Given the description of an element on the screen output the (x, y) to click on. 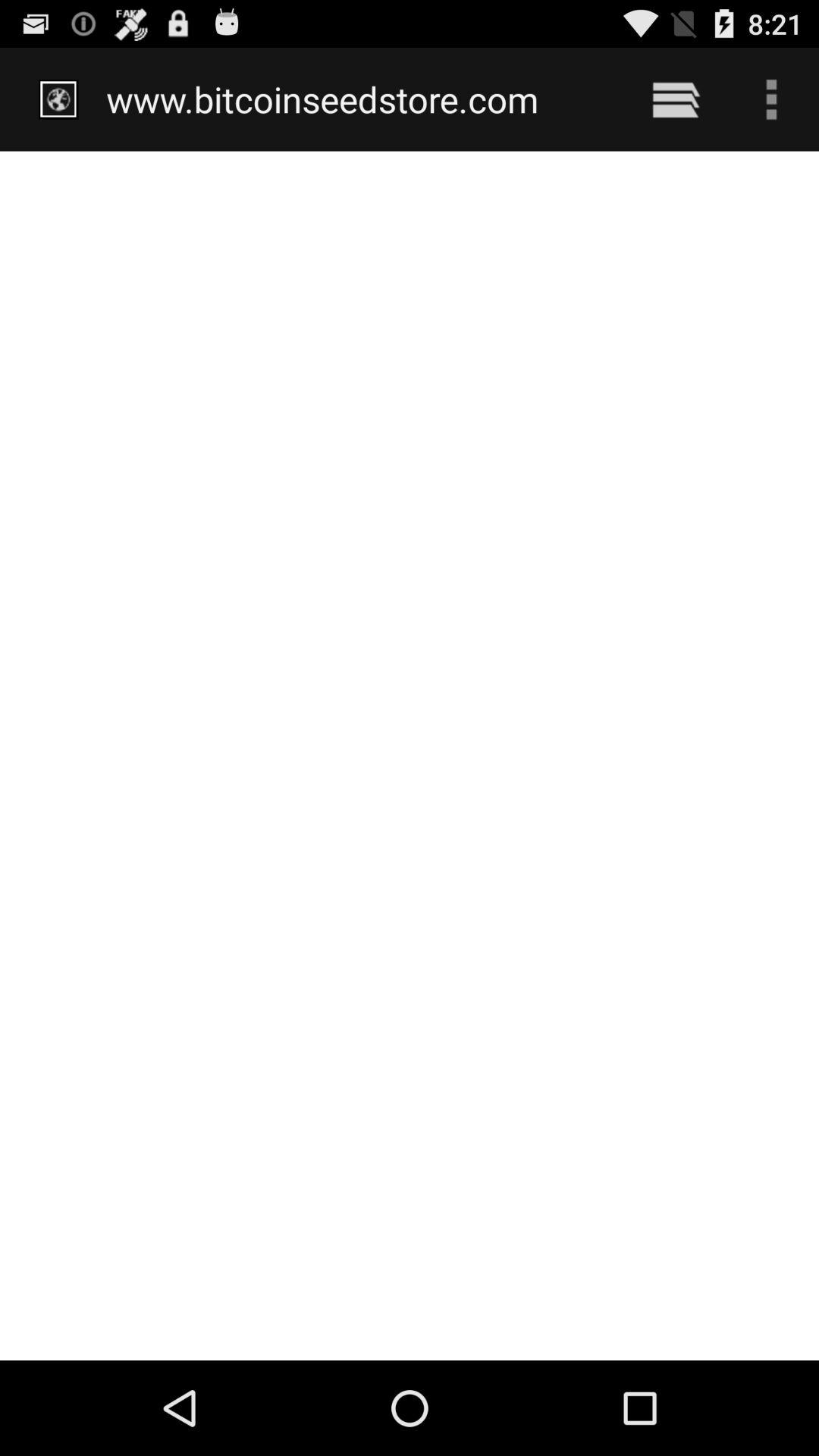
turn on icon at the center (409, 755)
